Given the description of an element on the screen output the (x, y) to click on. 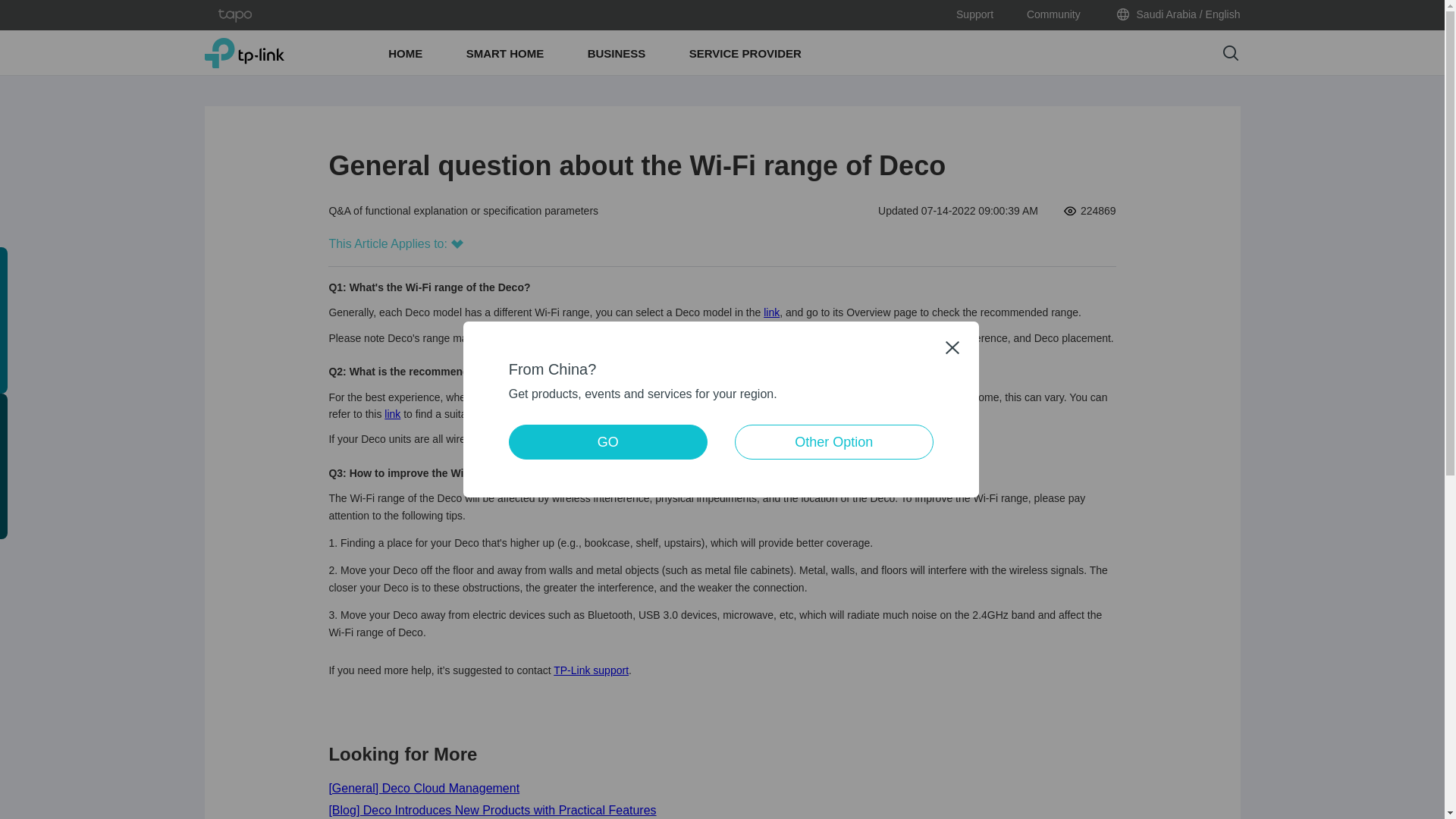
TP-Link, Reliably Smart (244, 52)
Support (974, 15)
tapo (234, 15)
Community (1053, 15)
Search (1230, 53)
